Given the description of an element on the screen output the (x, y) to click on. 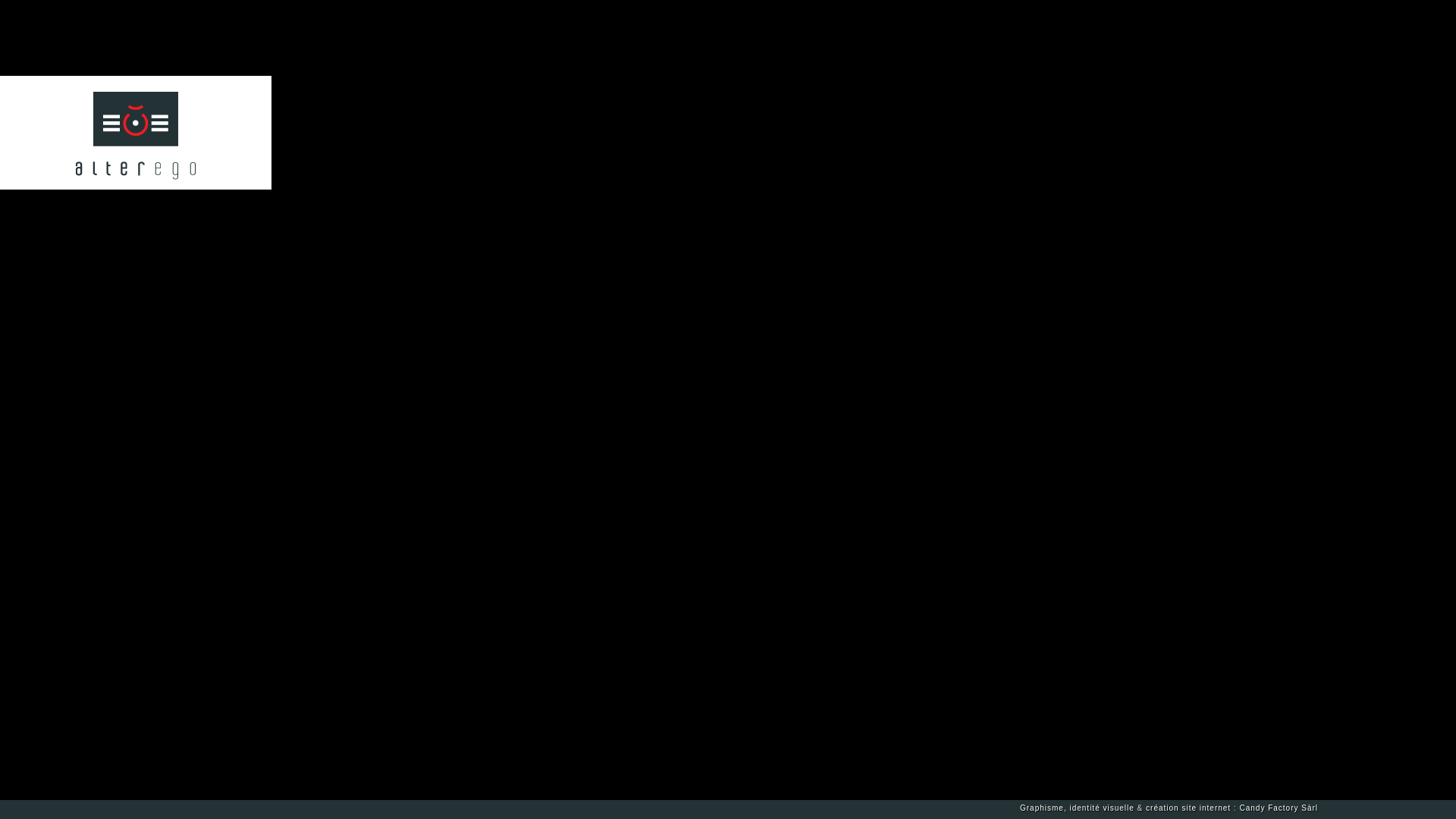
contacts Element type: text (87, 200)
